Given the description of an element on the screen output the (x, y) to click on. 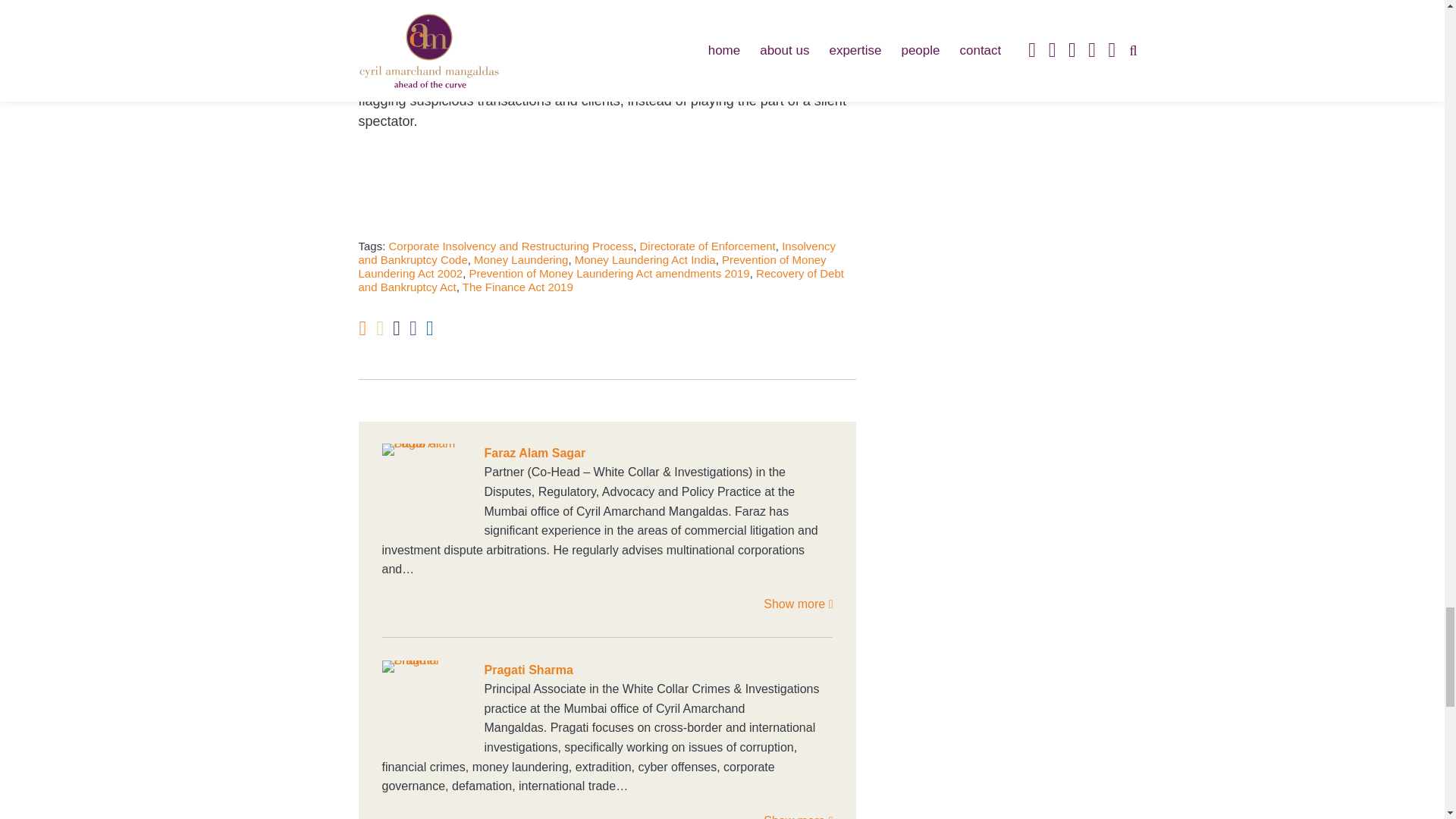
Money Laundering Act India (645, 259)
The Finance Act 2019 (518, 286)
Faraz Alam Sagar (606, 453)
Insolvency and Bankruptcy Code (596, 252)
Recovery of Debt and Bankruptcy Act (600, 279)
Prevention of Money Laundering Act 2002 (591, 266)
Email this post (379, 328)
Share this post on LinkedIn (429, 328)
Show more (797, 603)
Tweet this post (396, 328)
Corporate Insolvency and Restructuring Process (510, 245)
Money Laundering (520, 259)
Prevention of Money Laundering Act amendments 2019 (608, 273)
Directorate of Enforcement (708, 245)
Print: (362, 327)
